Given the description of an element on the screen output the (x, y) to click on. 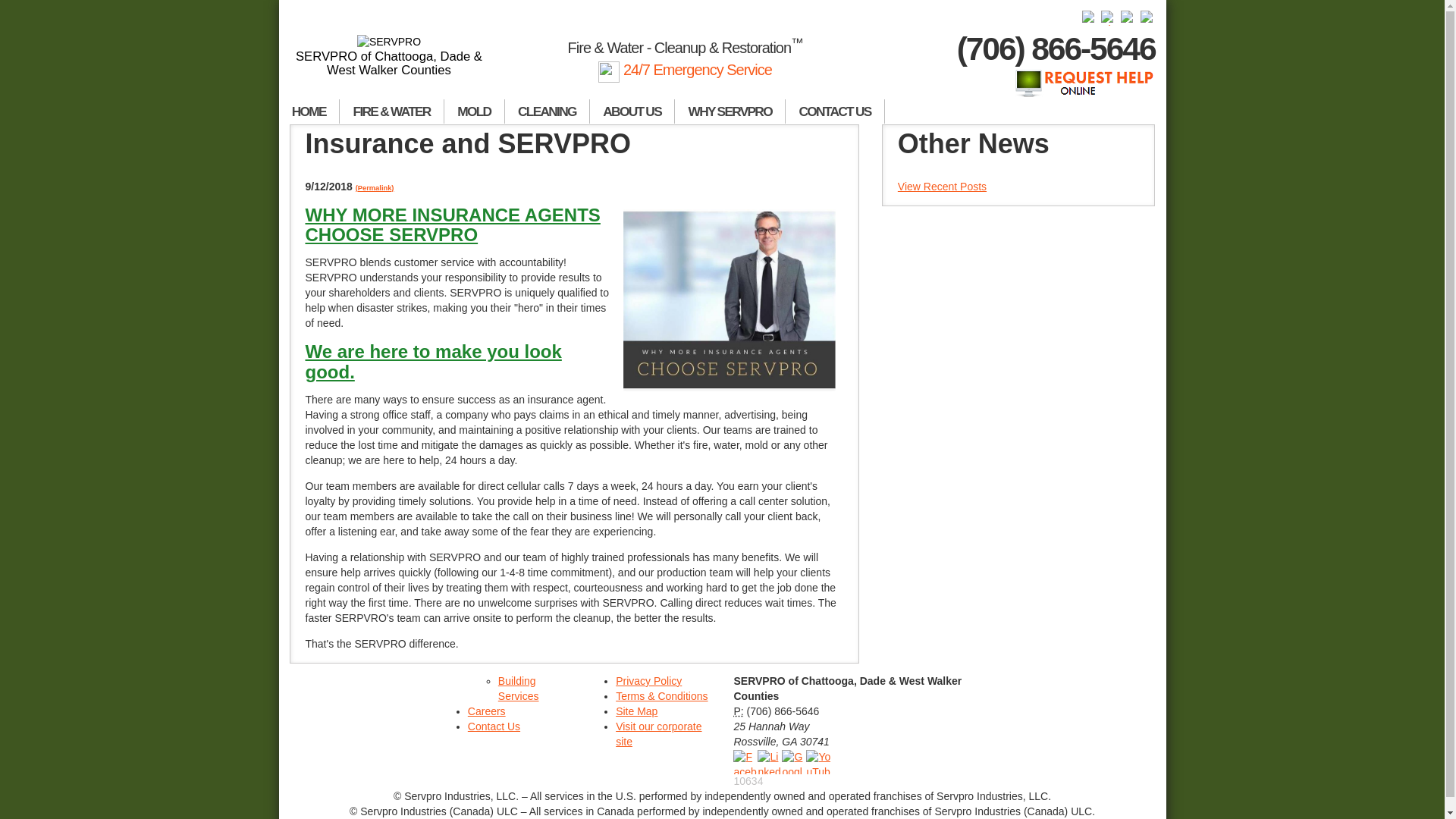
HOME (309, 111)
MOLD (474, 111)
CLEANING (547, 111)
ABOUT US (632, 111)
